Given the description of an element on the screen output the (x, y) to click on. 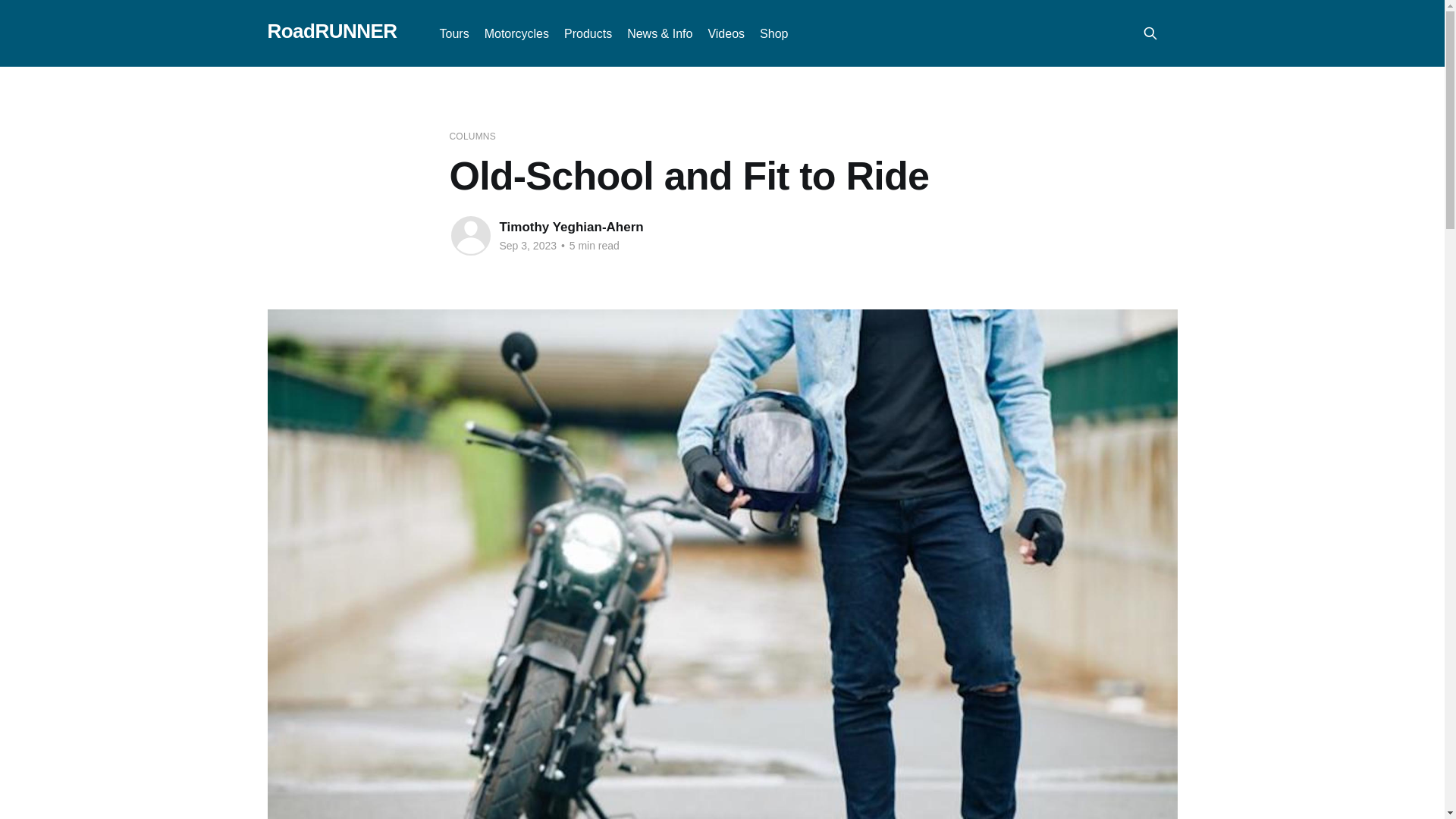
COLUMNS (471, 136)
Products (587, 33)
Timothy Yeghian-Ahern (571, 227)
RoadRUNNER (331, 31)
Motorcycles (516, 33)
Tours (453, 33)
Shop (773, 33)
Videos (725, 33)
